Given the description of an element on the screen output the (x, y) to click on. 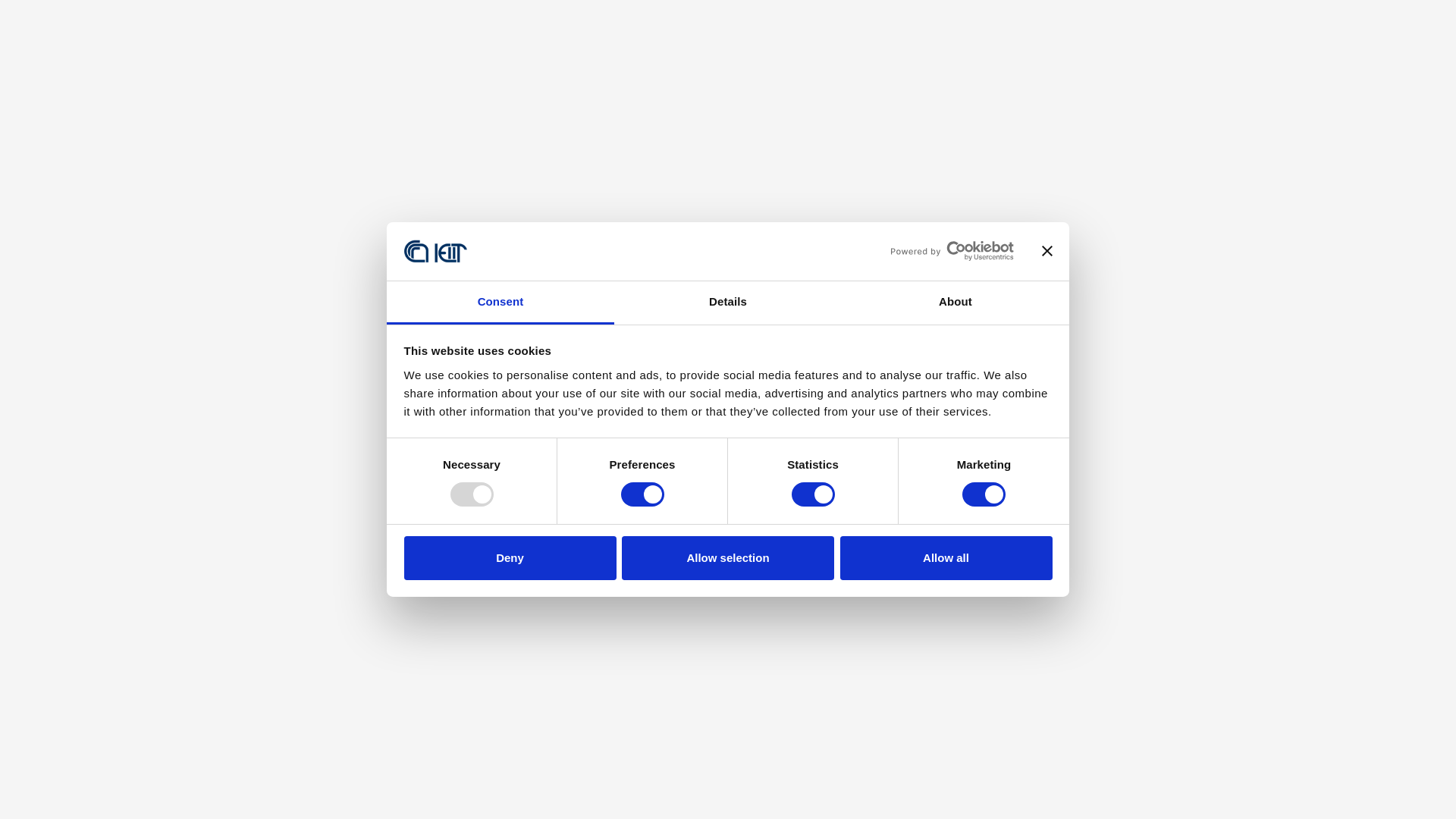
It (1196, 24)
Chi Siamo (966, 71)
Cookie Policy (1031, 657)
Amministrazione Trasparente (1031, 682)
IT (1196, 24)
Web Design (1031, 707)
En (1170, 24)
instagram (1272, 24)
linkedin (1254, 24)
Consent (500, 302)
